Given the description of an element on the screen output the (x, y) to click on. 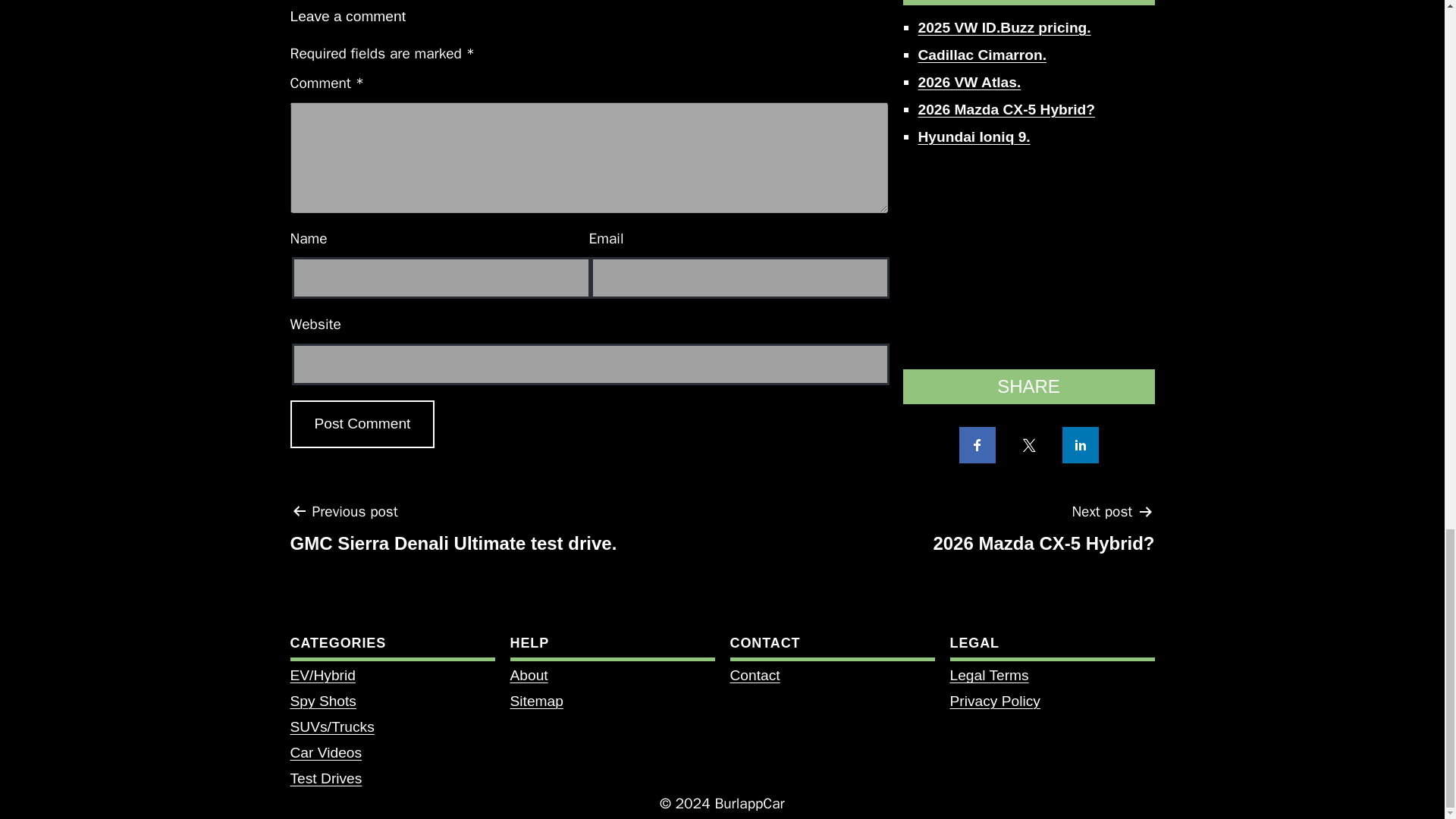
Legal Terms (988, 675)
Sitemap (535, 700)
Spy Shots (1043, 533)
About (452, 533)
Contact (322, 700)
Privacy Policy (528, 675)
Post Comment (753, 675)
Car Videos (994, 700)
